Given the description of an element on the screen output the (x, y) to click on. 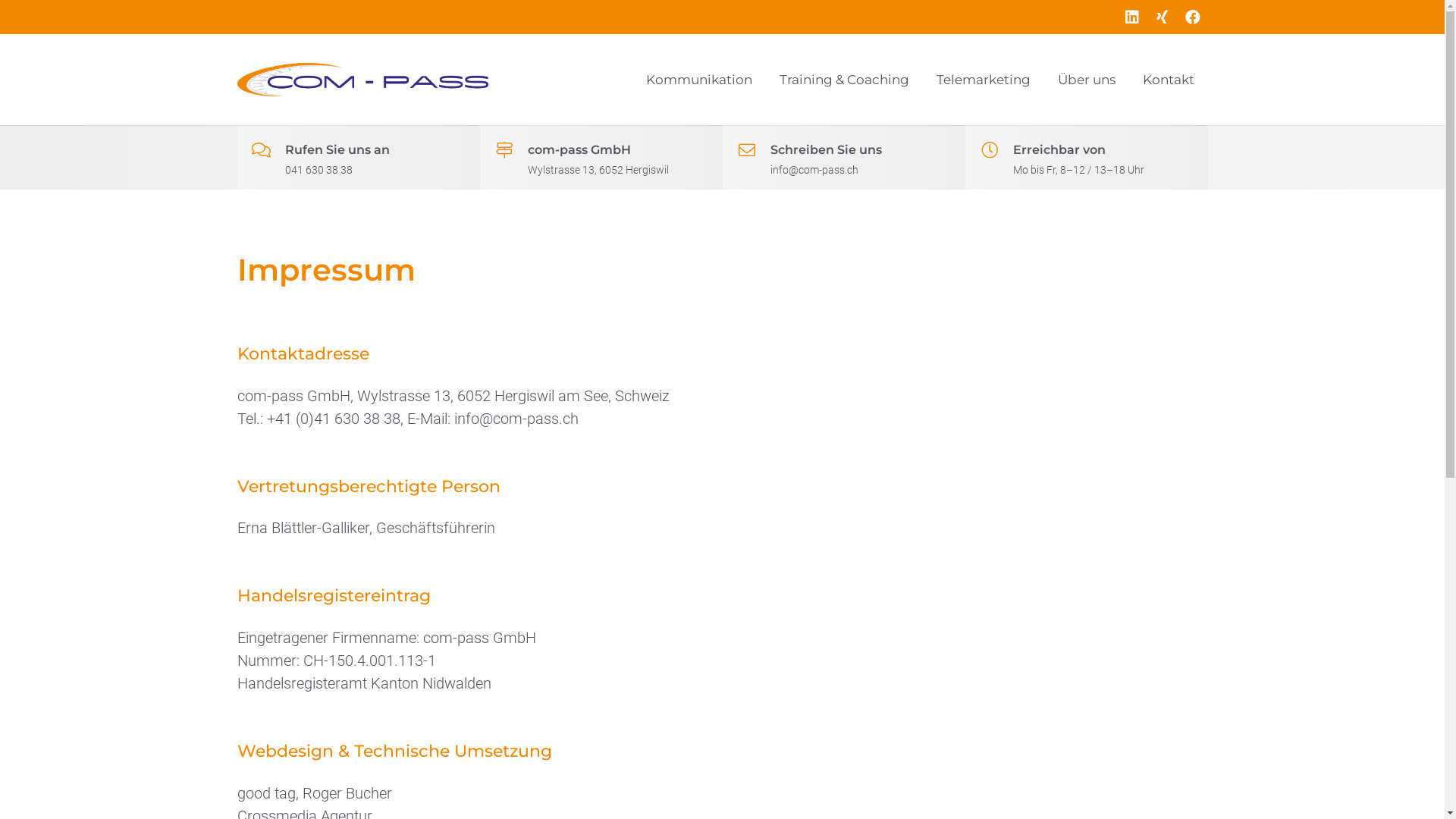
Training & Coaching Element type: text (843, 79)
info@com-pass.ch Element type: text (515, 418)
Kommunikation Element type: text (698, 79)
LinkedIn Element type: hover (1131, 16)
Kontakt Element type: text (1167, 79)
Facebook Element type: hover (1191, 16)
Xing Element type: hover (1161, 16)
info@com-pass.ch Element type: text (814, 169)
Telemarketing Element type: text (982, 79)
